Given the description of an element on the screen output the (x, y) to click on. 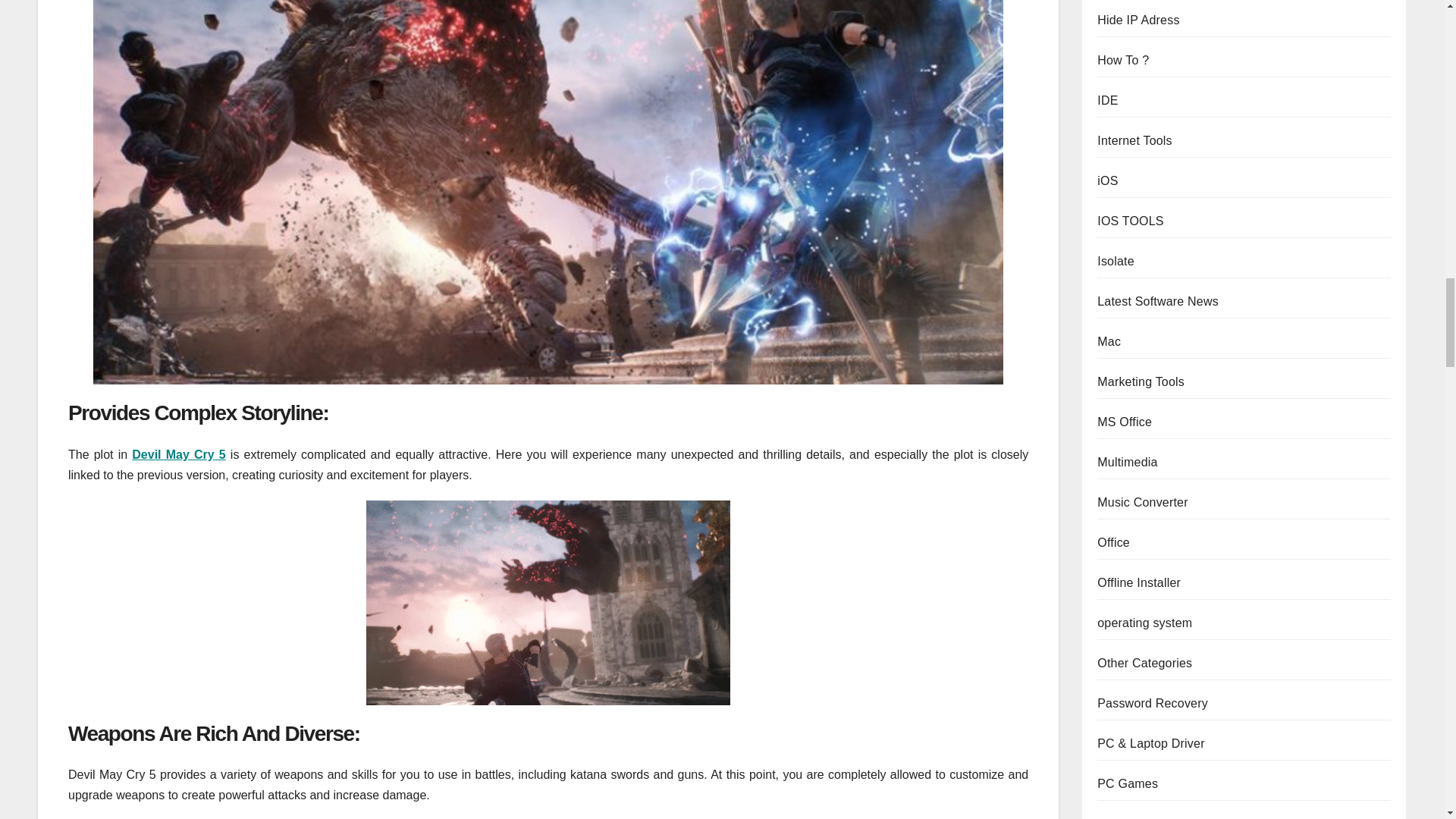
Devil May Cry 5 (178, 454)
